Given the description of an element on the screen output the (x, y) to click on. 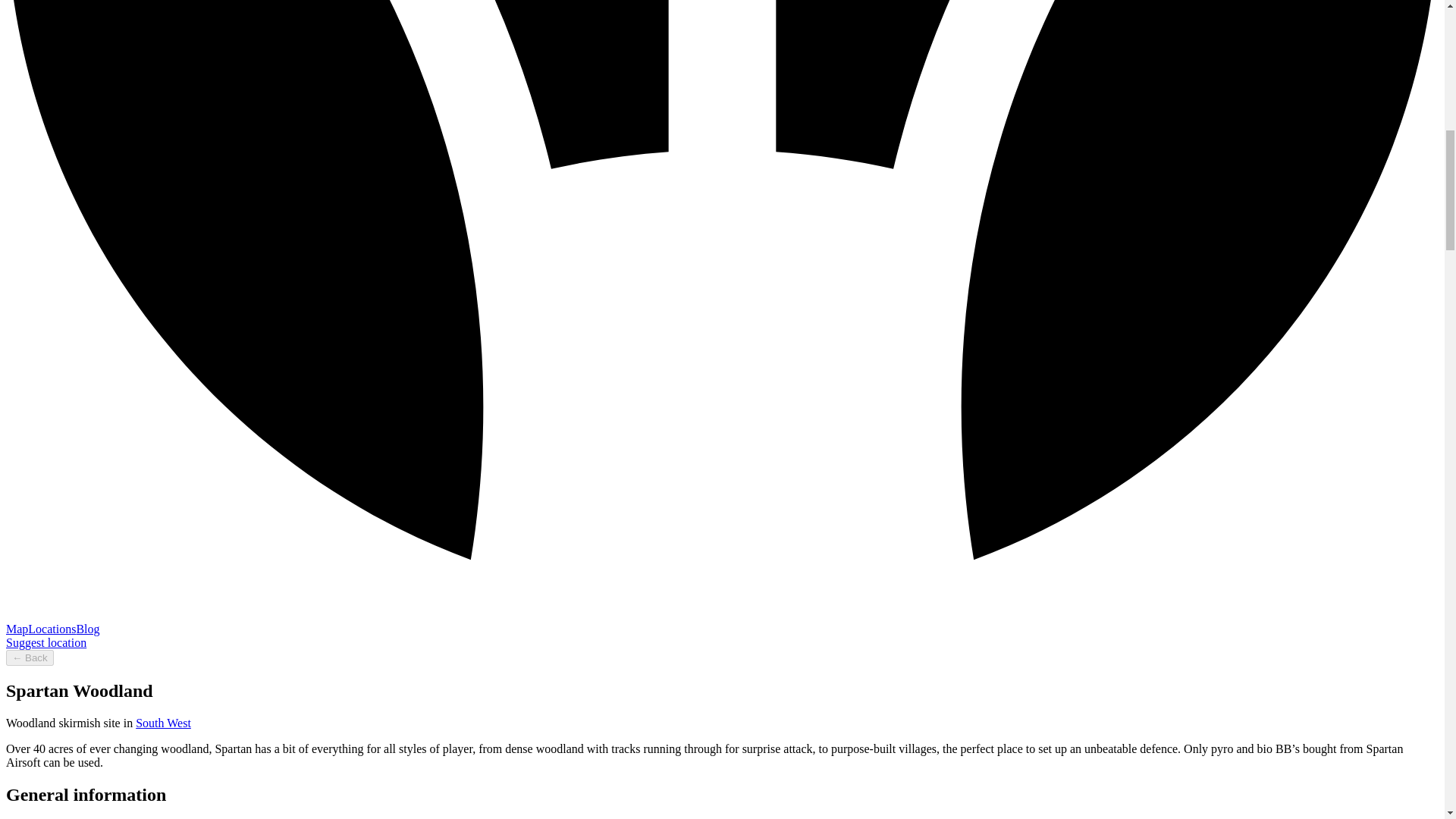
Locations (51, 628)
South West (162, 722)
Suggest location (45, 642)
Blog (87, 628)
Map (16, 628)
